Given the description of an element on the screen output the (x, y) to click on. 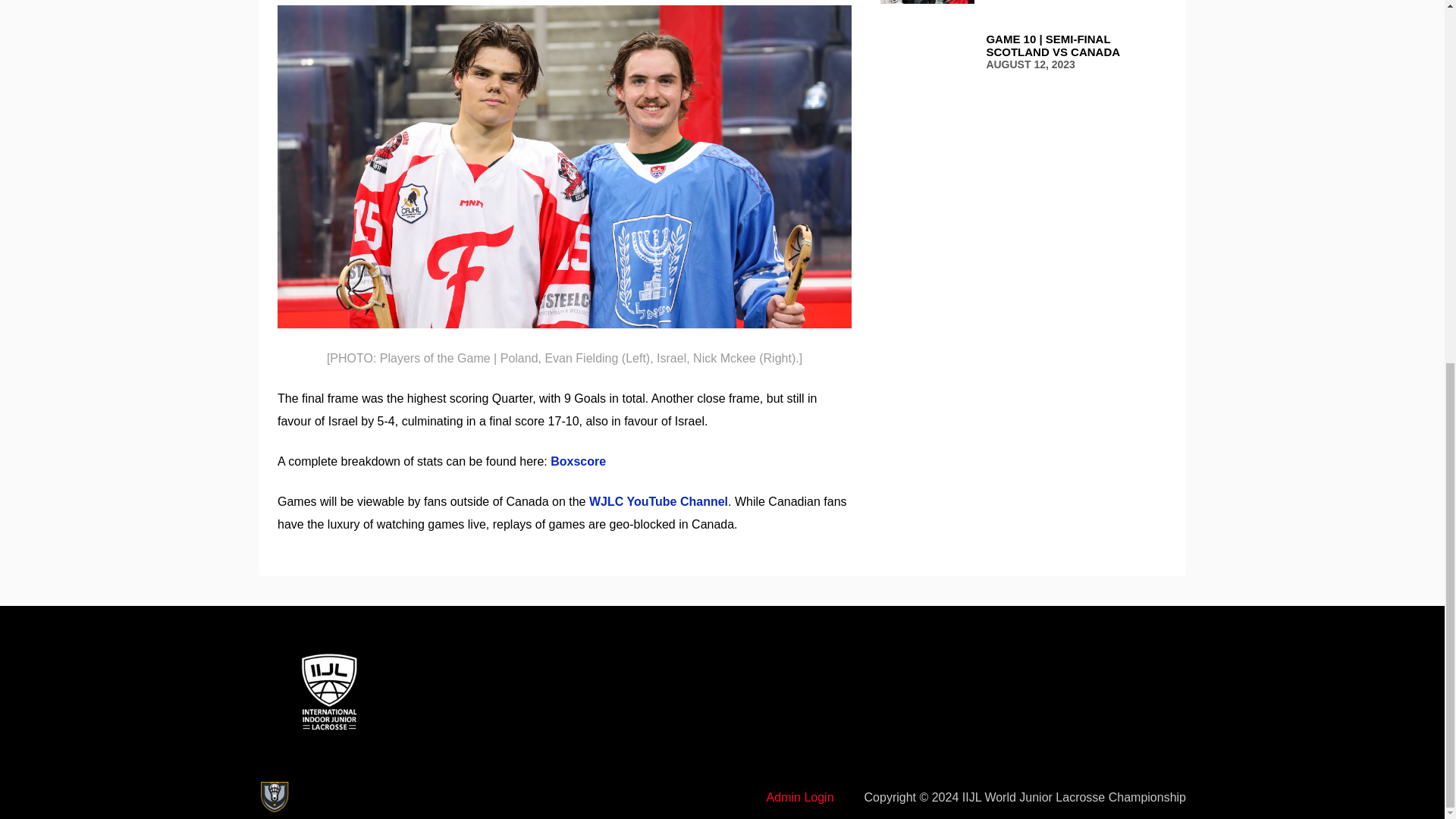
Powered by LacrosseShift (273, 797)
